Given the description of an element on the screen output the (x, y) to click on. 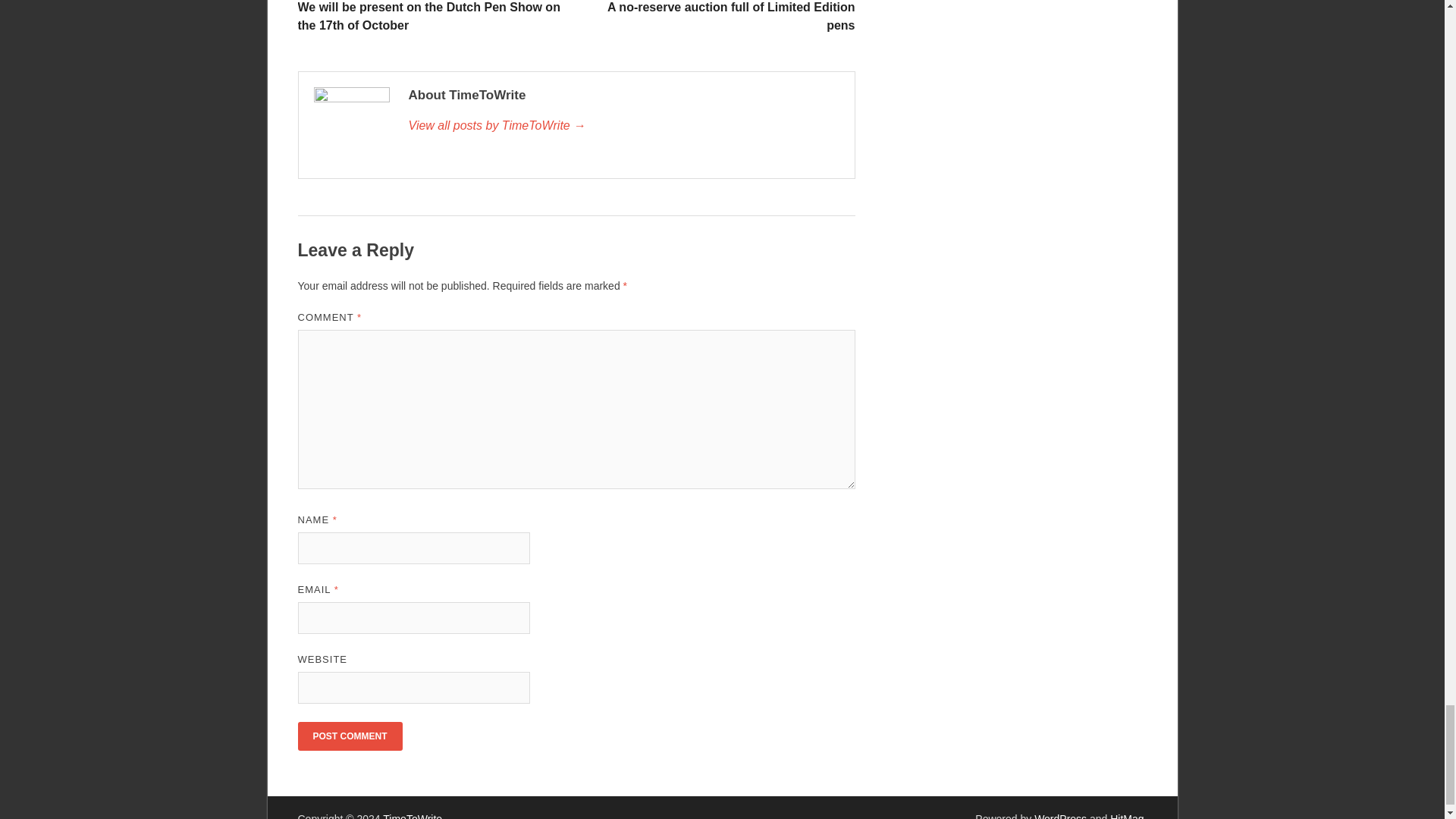
Post Comment (349, 736)
Post Comment (349, 736)
TimeToWrite (622, 126)
